Given the description of an element on the screen output the (x, y) to click on. 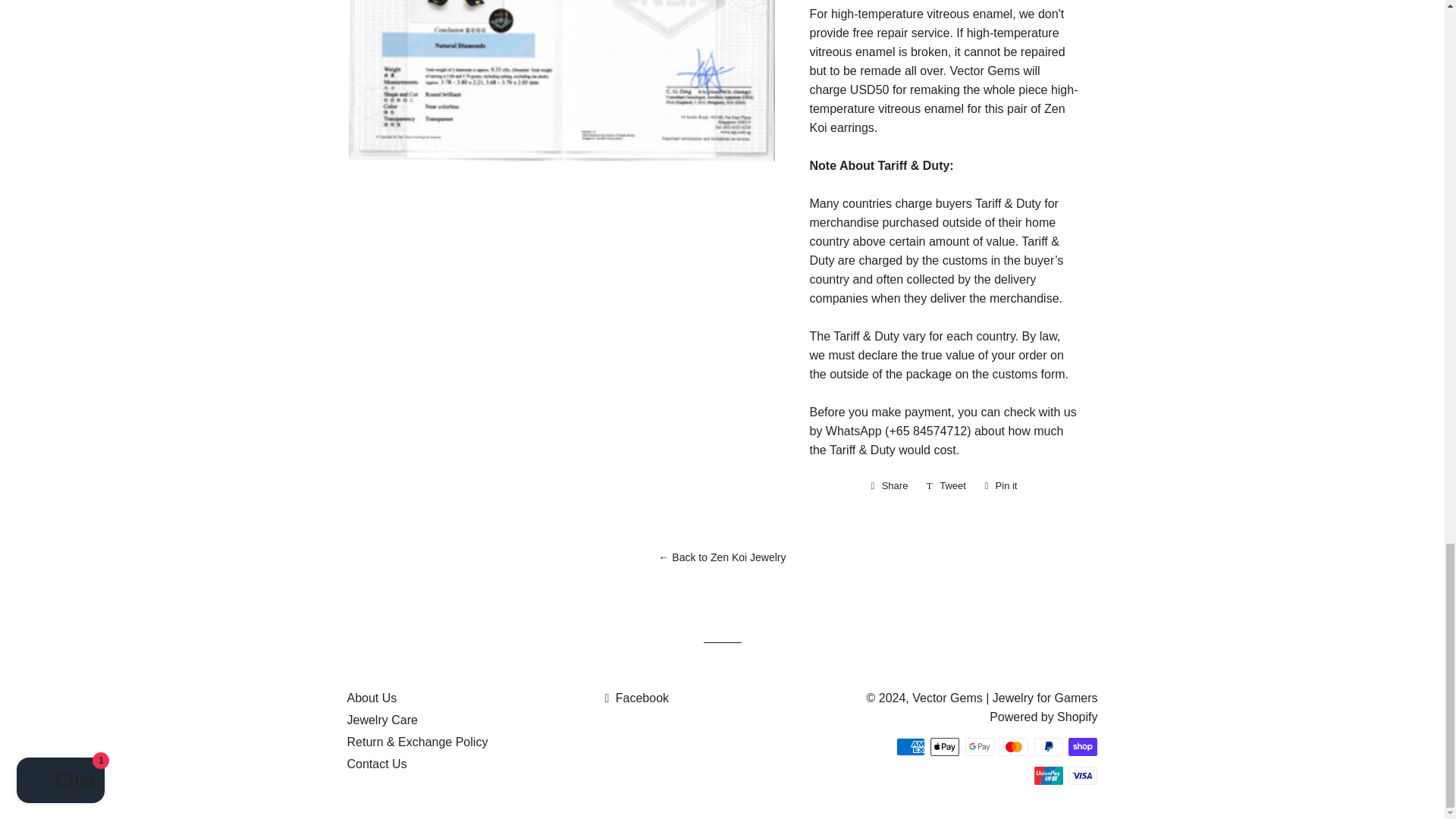
PayPal (1047, 746)
Mastercard (1012, 746)
Google Pay (979, 746)
Tweet on Twitter (946, 486)
Apple Pay (944, 746)
American Express (910, 746)
Pin on Pinterest (889, 486)
Shop Pay (1000, 486)
Union Pay (1082, 746)
Visa (946, 486)
Share on Facebook (1047, 775)
